Given the description of an element on the screen output the (x, y) to click on. 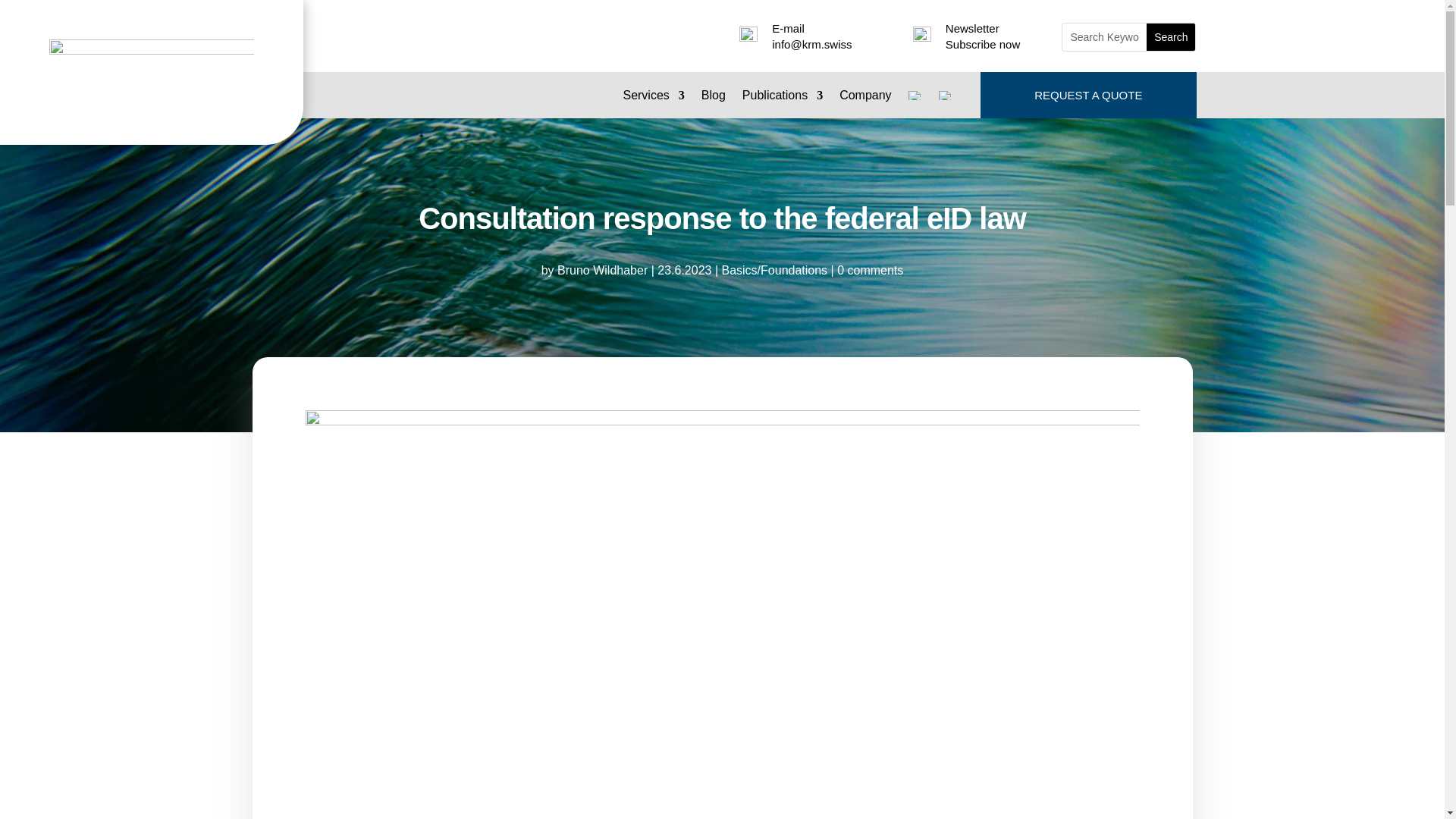
Search (1171, 36)
Posts by Bruno Wildhaber (602, 269)
Search (1171, 36)
cropped-logoKRM.png (151, 72)
Blog (713, 98)
Company (865, 98)
Publications (782, 98)
Search (1171, 36)
Services (653, 98)
